Given the description of an element on the screen output the (x, y) to click on. 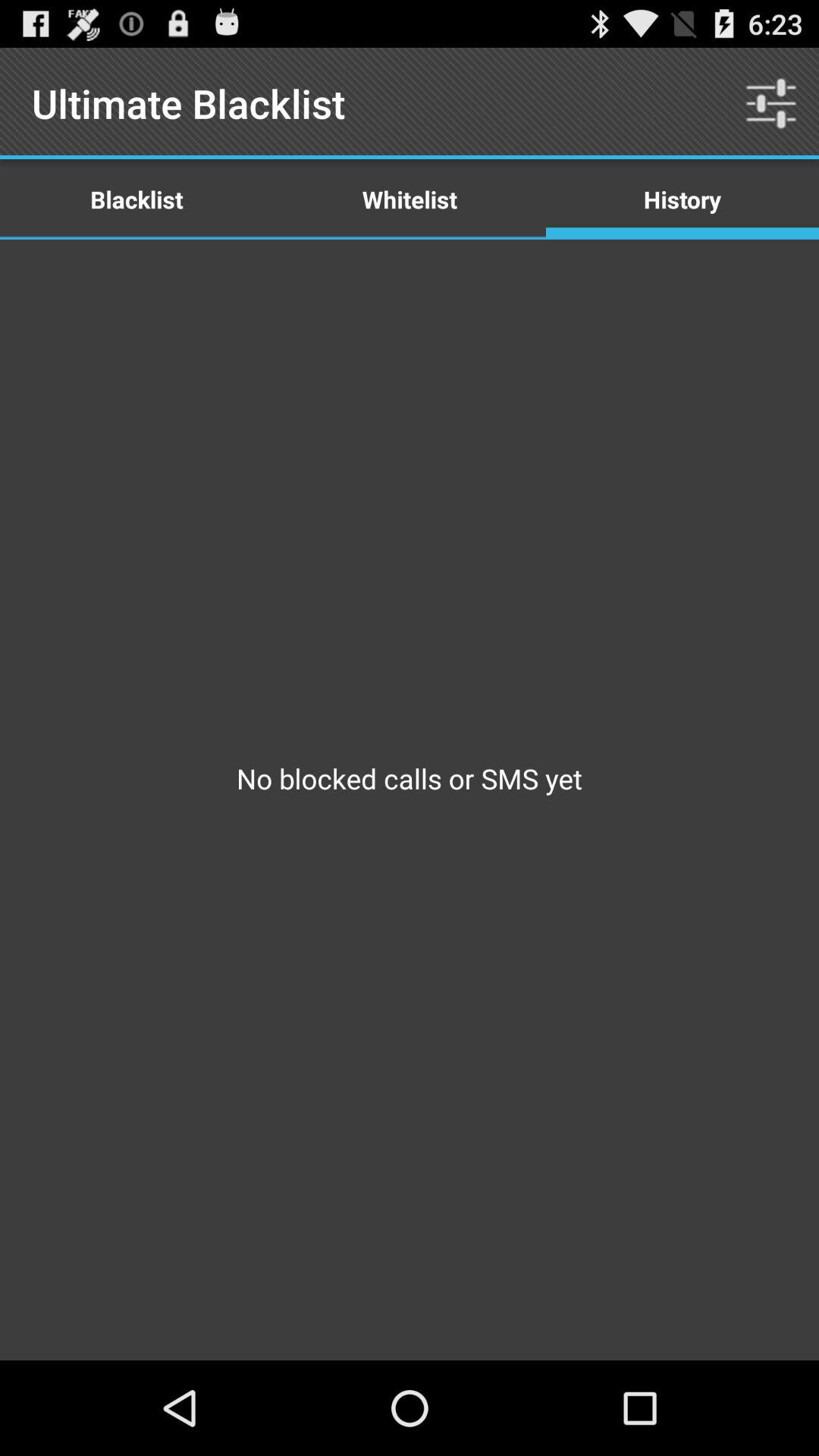
turn off the icon to the right of the whitelist (682, 199)
